Given the description of an element on the screen output the (x, y) to click on. 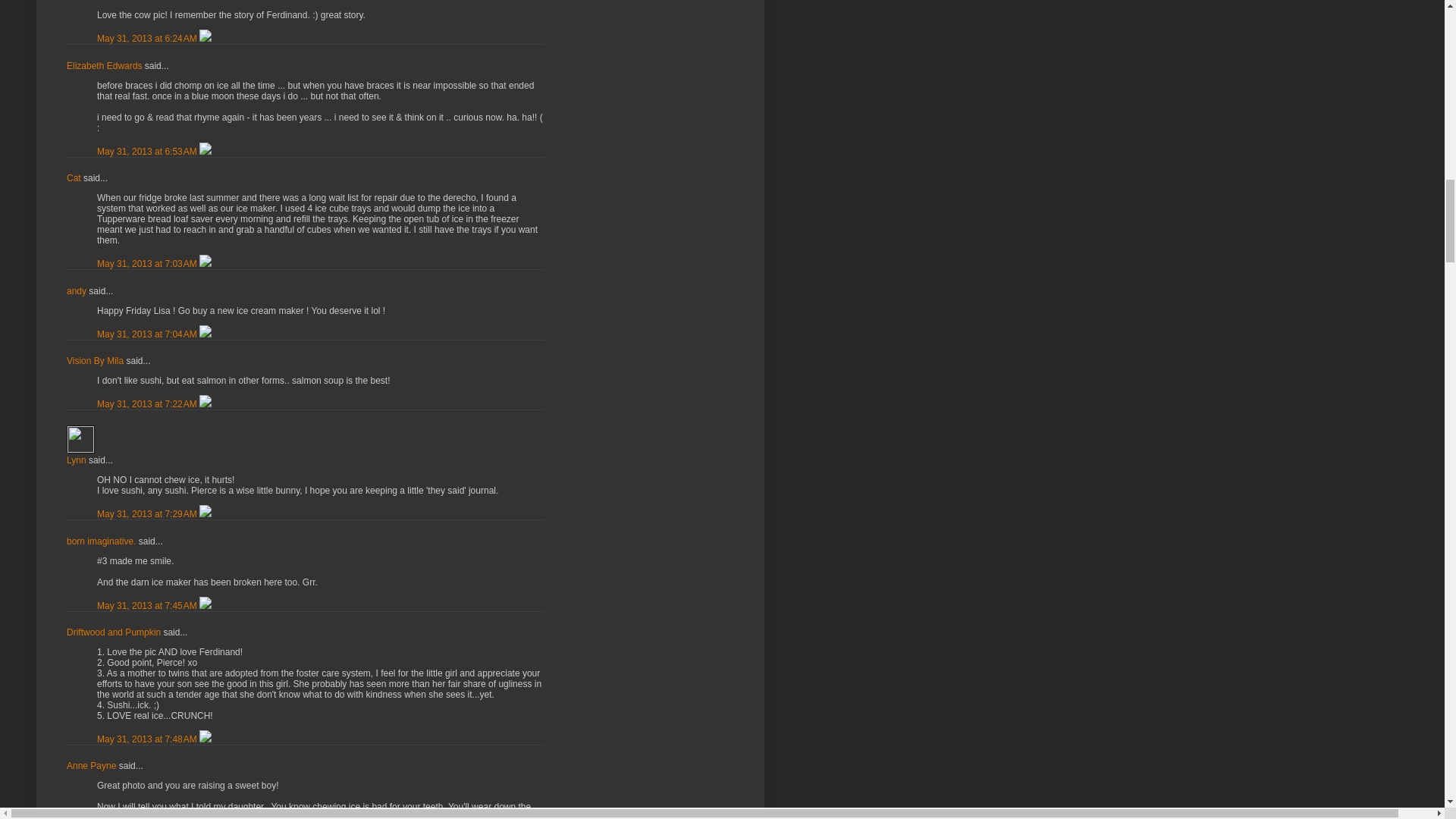
comment permalink (148, 38)
Elizabeth Edwards (103, 65)
Delete Comment (205, 38)
